Given the description of an element on the screen output the (x, y) to click on. 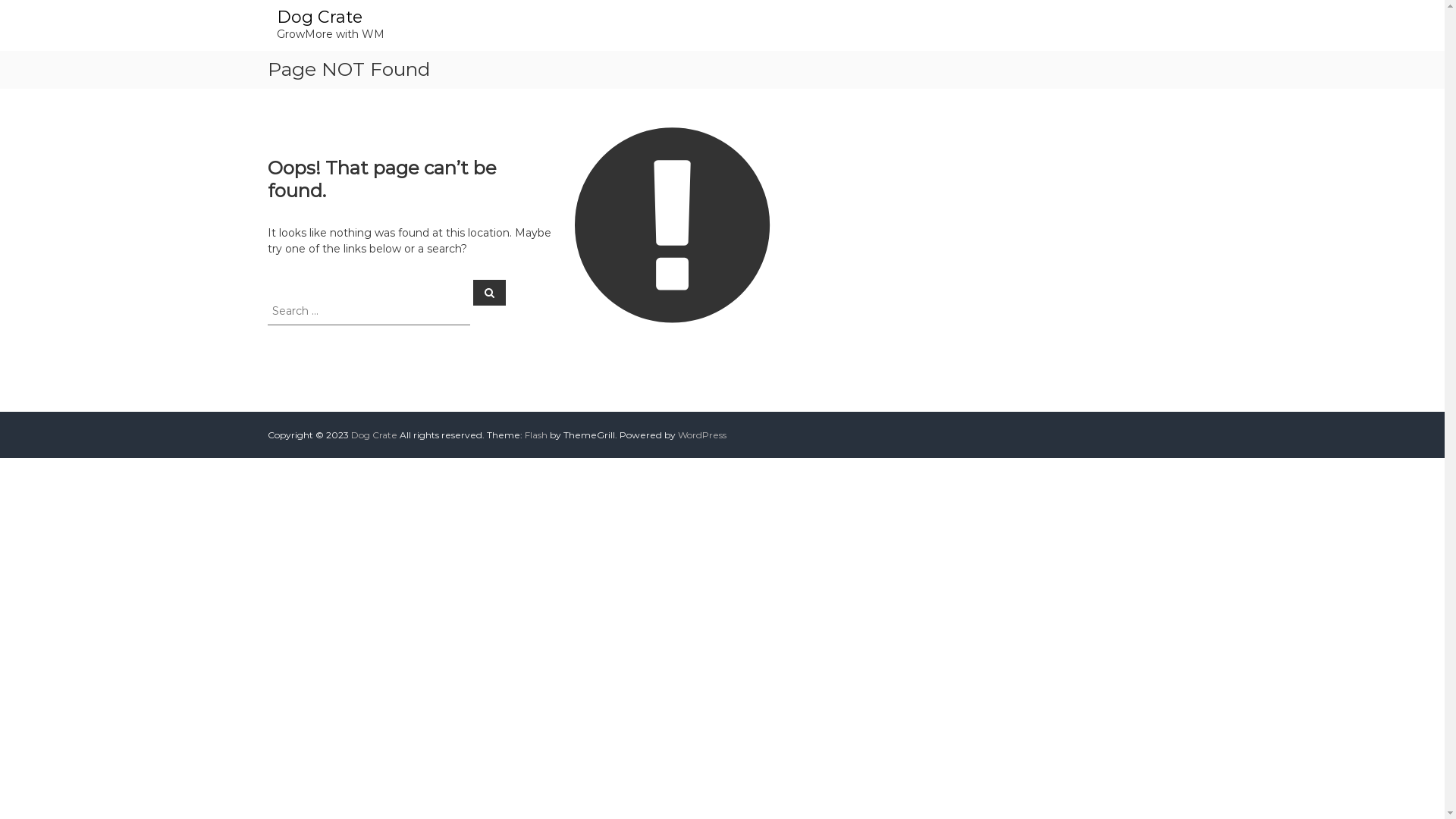
WordPress Element type: text (701, 434)
Dog Crate Element type: text (373, 434)
Flash Element type: text (535, 434)
Dog Crate Element type: text (318, 16)
Search Element type: text (489, 291)
